Given the description of an element on the screen output the (x, y) to click on. 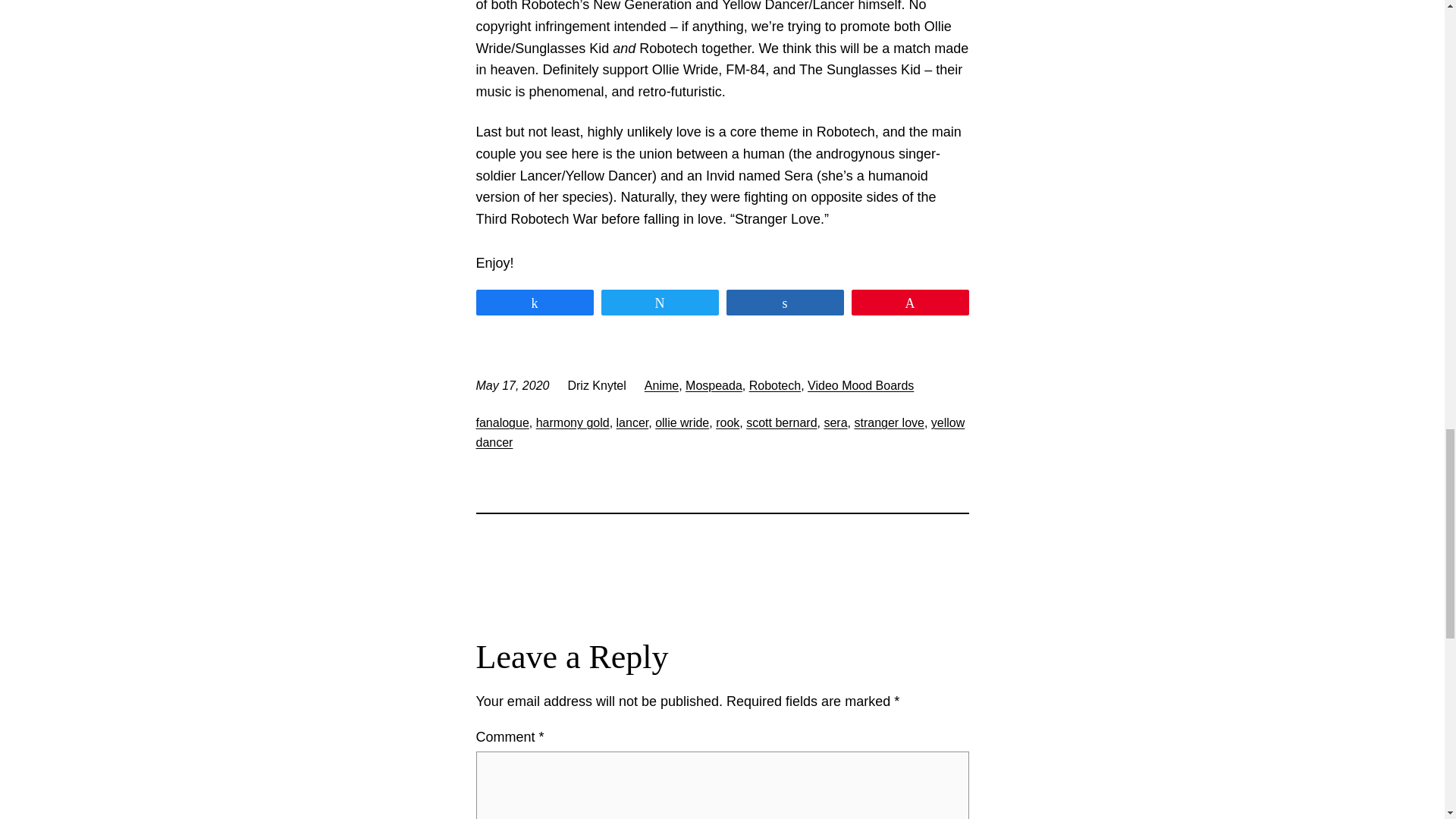
sera (835, 422)
Mospeada (713, 385)
fanalogue (502, 422)
yellow dancer (720, 432)
Robotech (775, 385)
lancer (632, 422)
stranger love (888, 422)
Anime (661, 385)
Video Mood Boards (861, 385)
rook (727, 422)
ollie wride (682, 422)
harmony gold (572, 422)
scott bernard (780, 422)
